Given the description of an element on the screen output the (x, y) to click on. 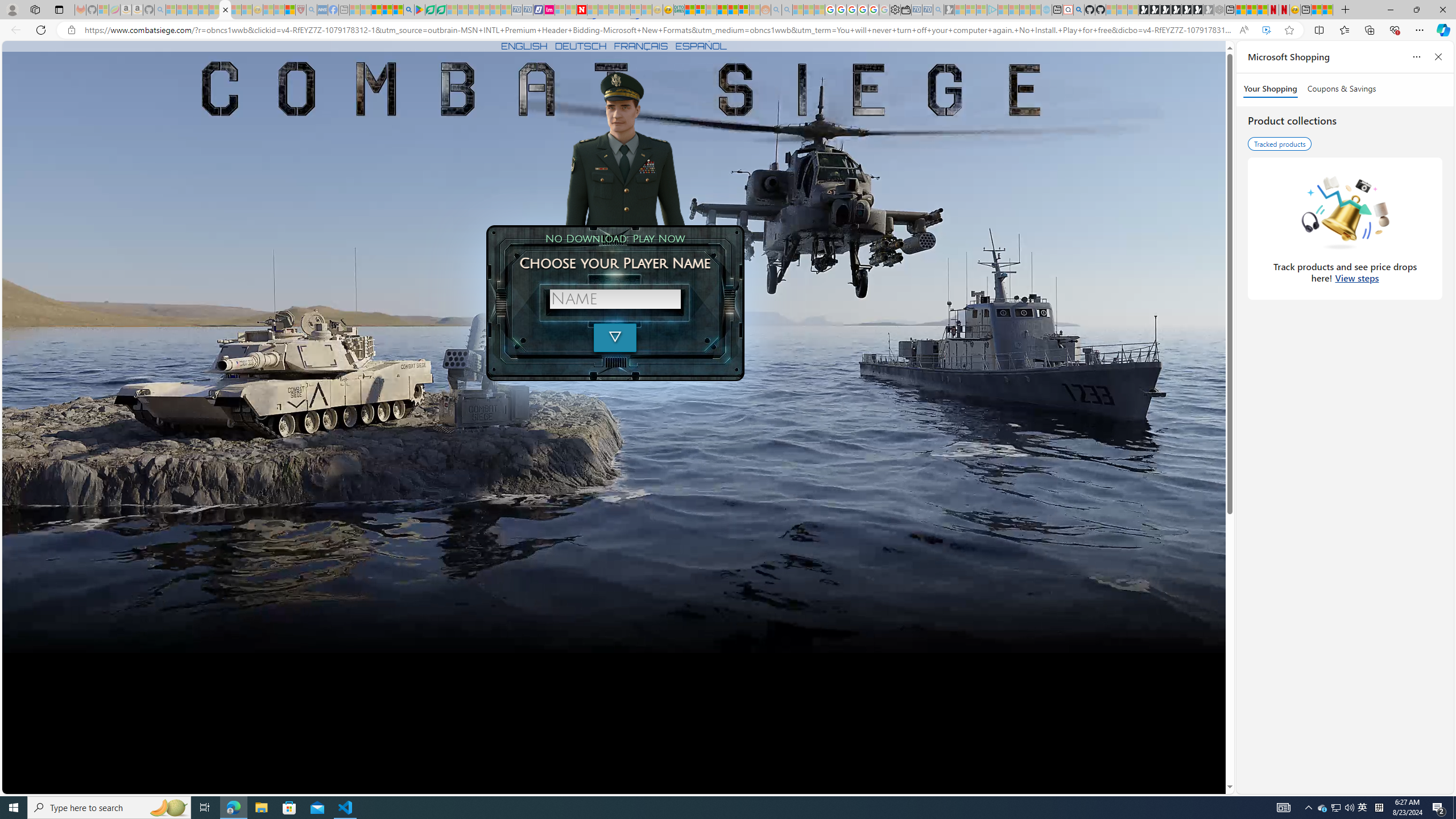
Latest Politics News & Archive | Newsweek.com (582, 9)
Bing Real Estate - Home sales and rental listings - Sleeping (938, 9)
New Report Confirms 2023 Was Record Hot | Watch - Sleeping (213, 9)
Wildlife - MSN (1316, 9)
